Given the description of an element on the screen output the (x, y) to click on. 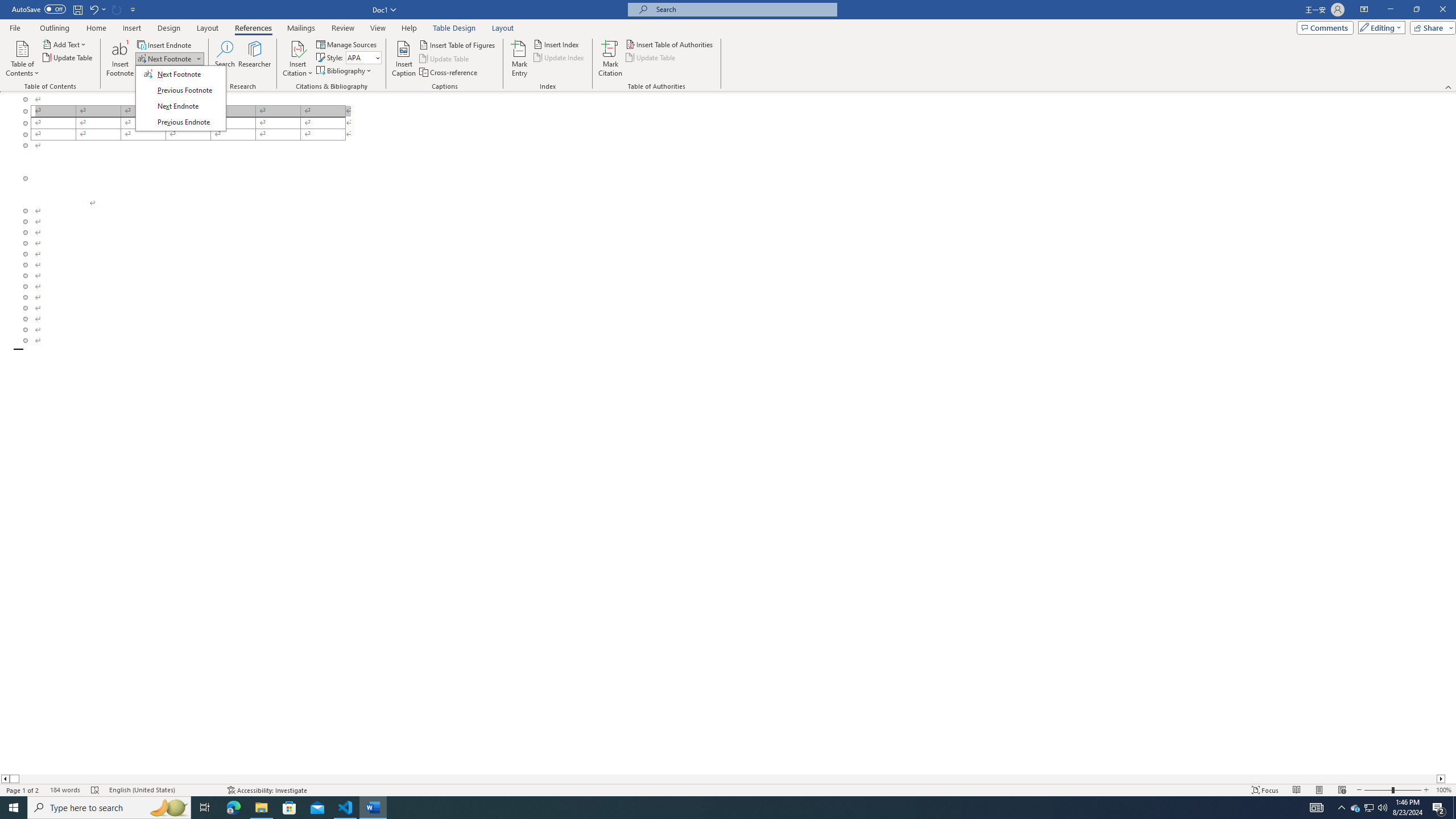
Insert Citation (297, 58)
Bibliography (344, 69)
Cross-reference... (448, 72)
Zoom 100% (1443, 790)
